Given the description of an element on the screen output the (x, y) to click on. 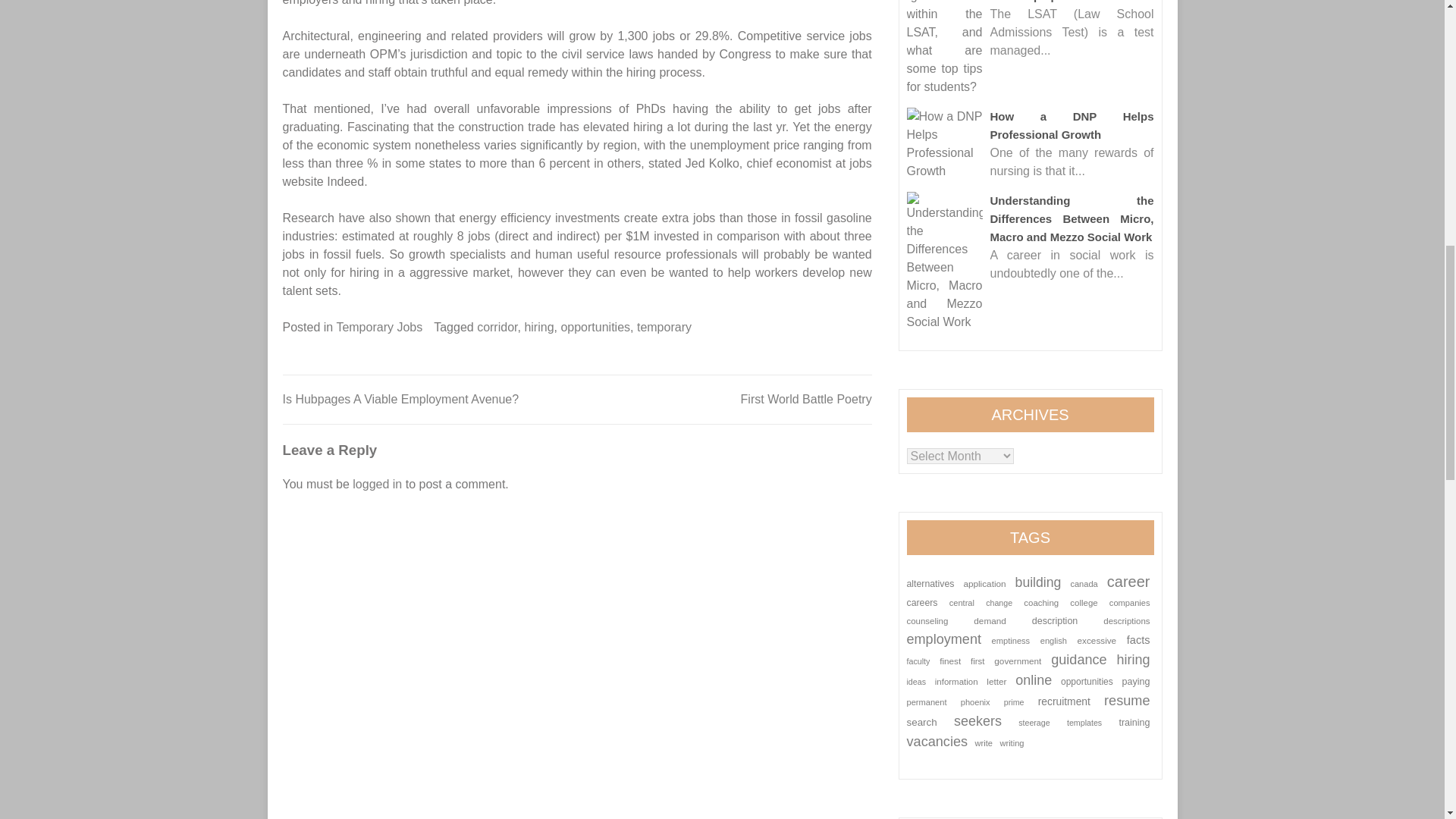
corridor (496, 327)
How a DNP Helps Professional Growth (944, 143)
Temporary Jobs (379, 327)
temporary (664, 327)
hiring (538, 327)
First World Battle Poetry (806, 399)
opportunities (595, 327)
Is Hubpages A Viable Employment Avenue? (400, 399)
